Given the description of an element on the screen output the (x, y) to click on. 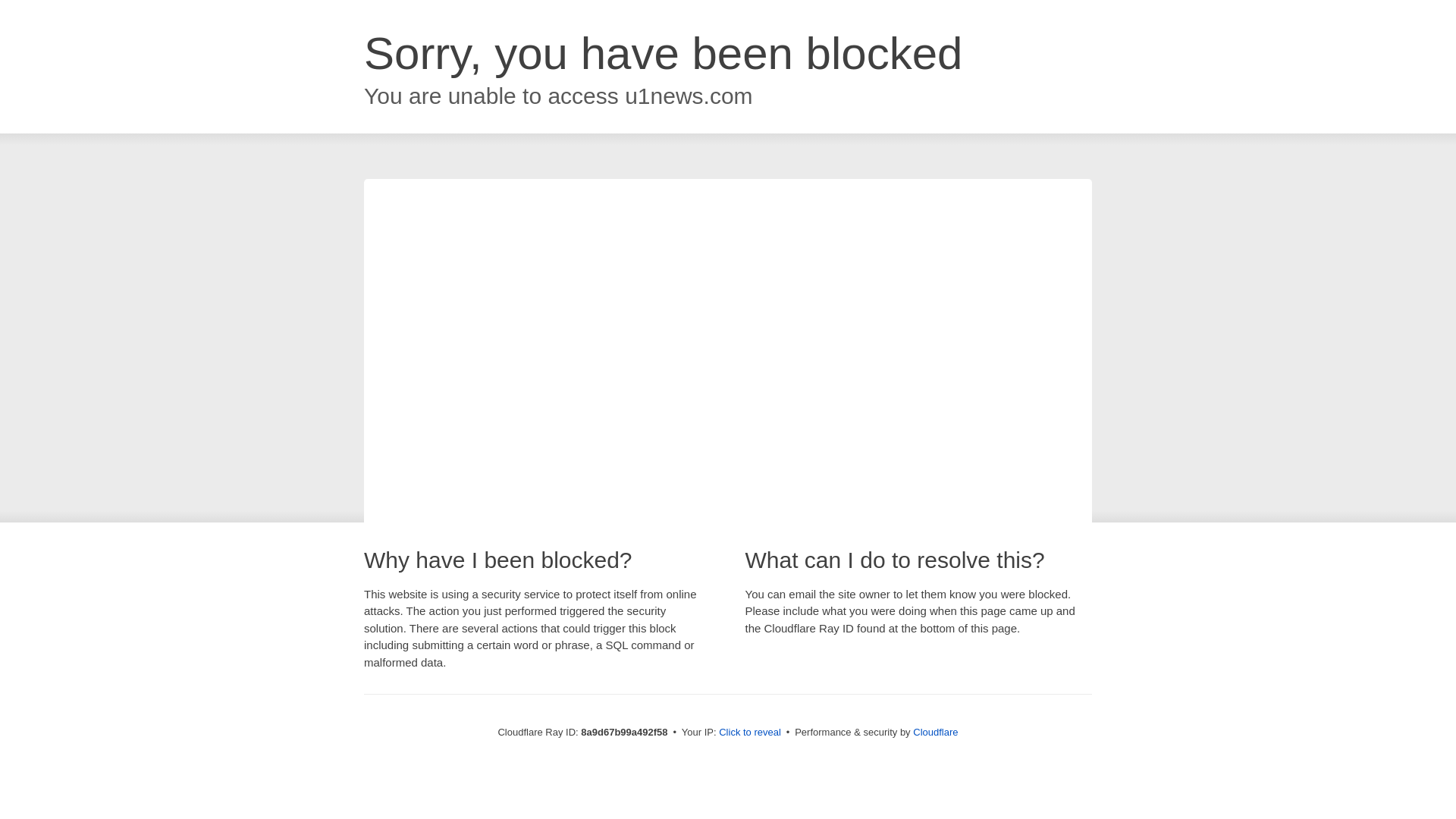
Cloudflare (935, 731)
Click to reveal (749, 732)
